Given the description of an element on the screen output the (x, y) to click on. 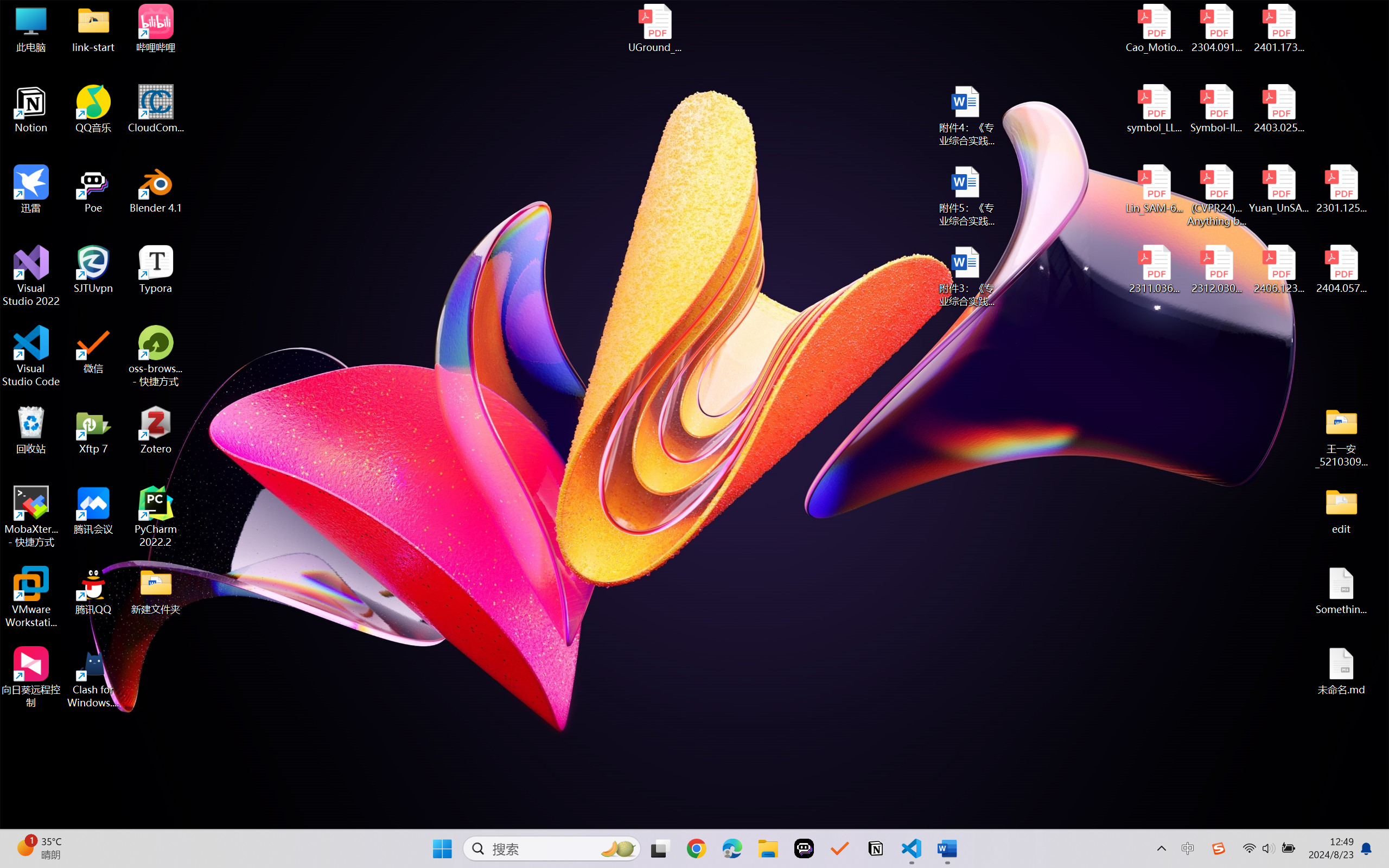
Something.md (1340, 591)
2401.17399v1.pdf (1278, 28)
Microsoft Edge (731, 848)
Visual Studio 2022 (31, 276)
2312.03032v2.pdf (1216, 269)
